Given the description of an element on the screen output the (x, y) to click on. 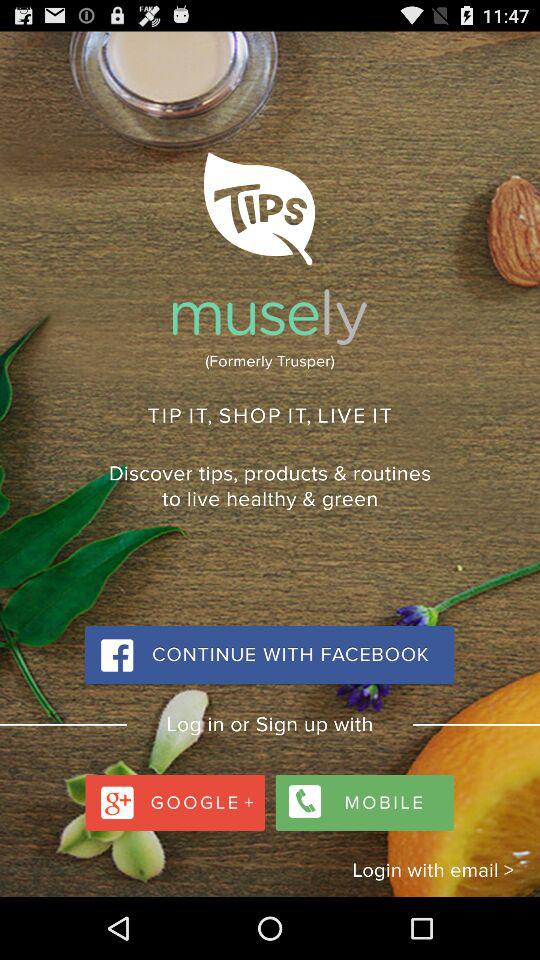
login through mobile number (362, 797)
